Given the description of an element on the screen output the (x, y) to click on. 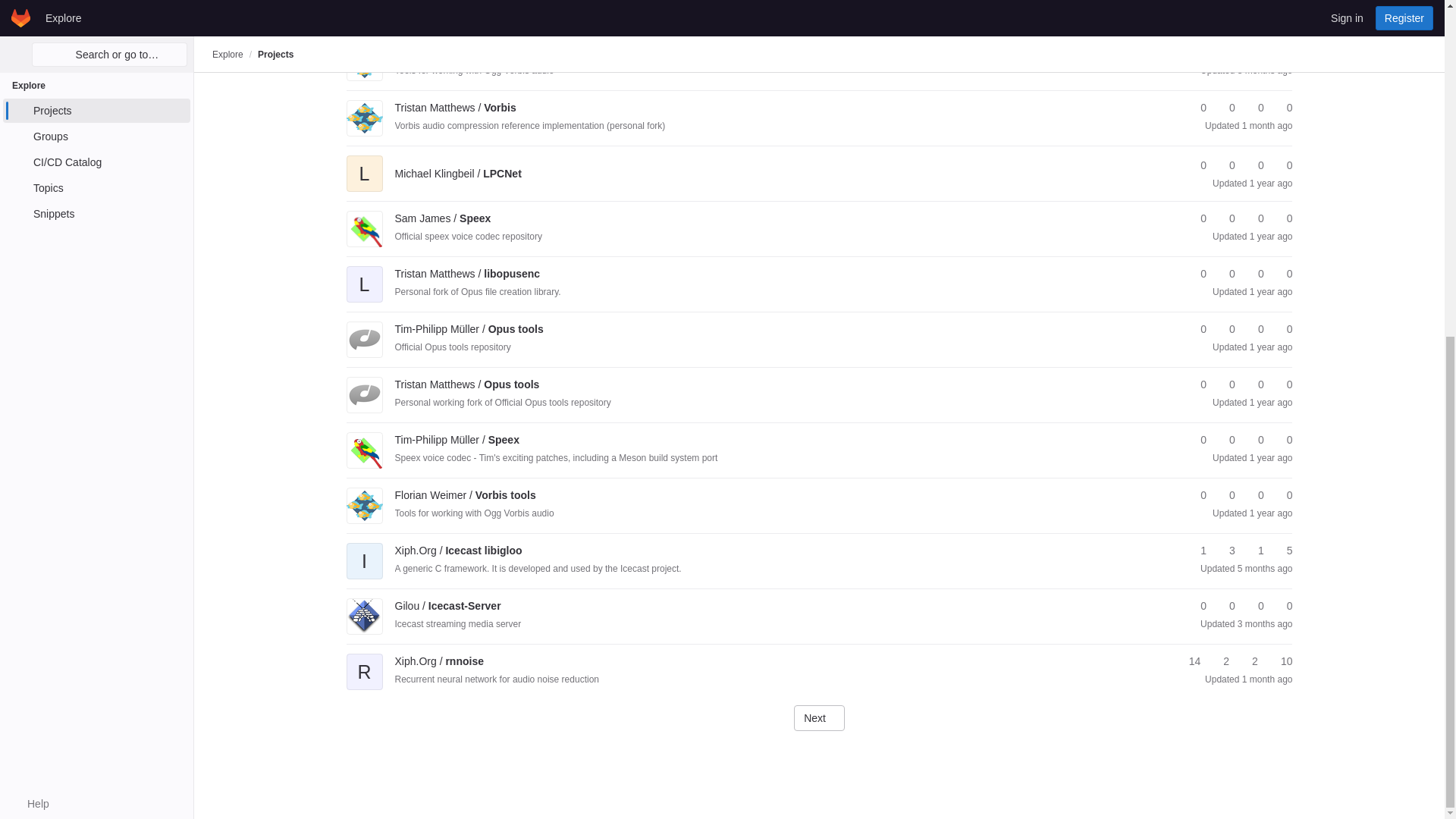
Help (30, 238)
